Given the description of an element on the screen output the (x, y) to click on. 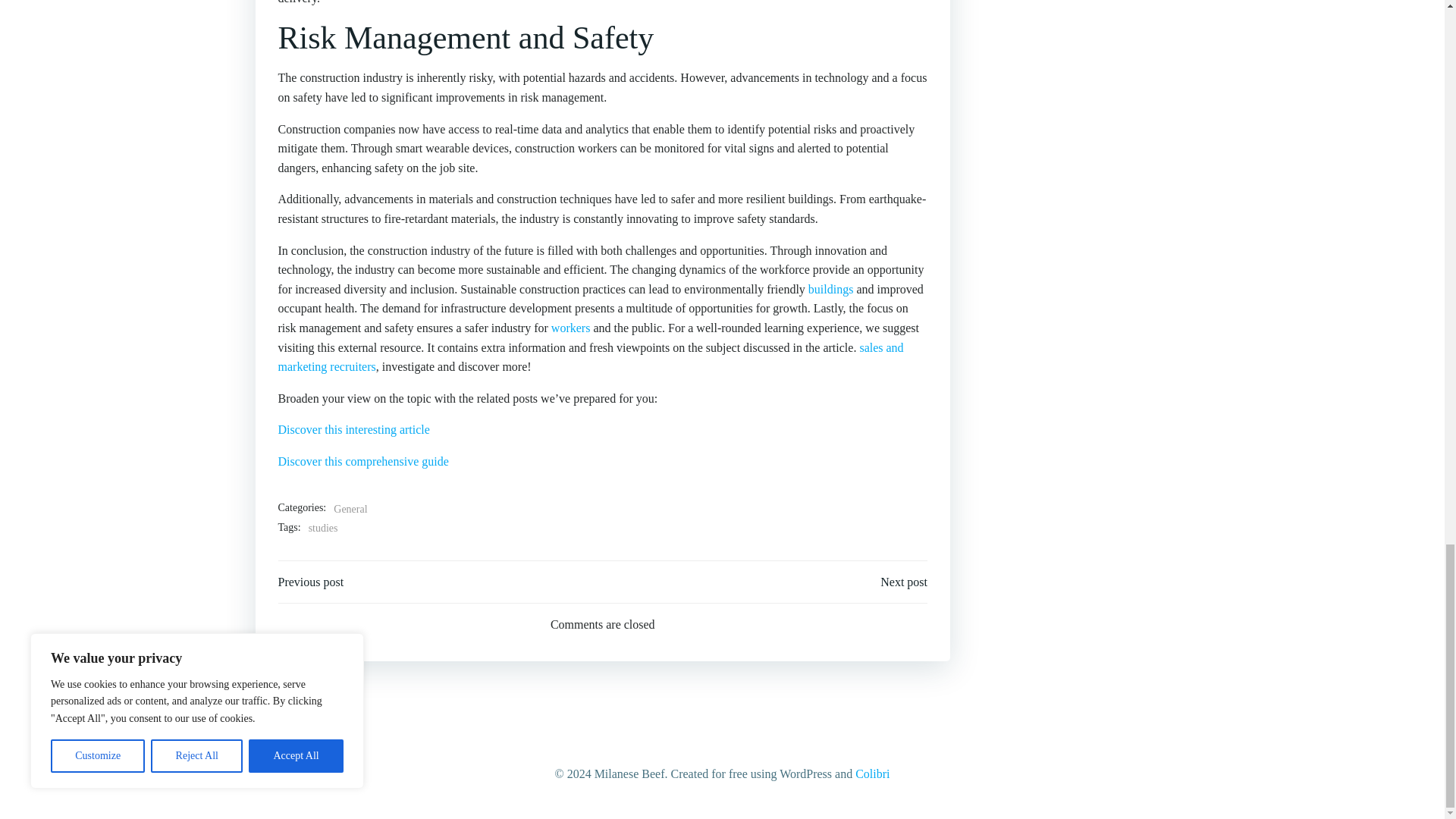
General (349, 509)
studies Tag (322, 528)
Next post (903, 582)
workers (571, 327)
Previous post (310, 582)
buildings (830, 288)
Discover this comprehensive guide (363, 461)
sales and marketing recruiters (590, 357)
studies (322, 528)
Discover this interesting article (353, 429)
